Given the description of an element on the screen output the (x, y) to click on. 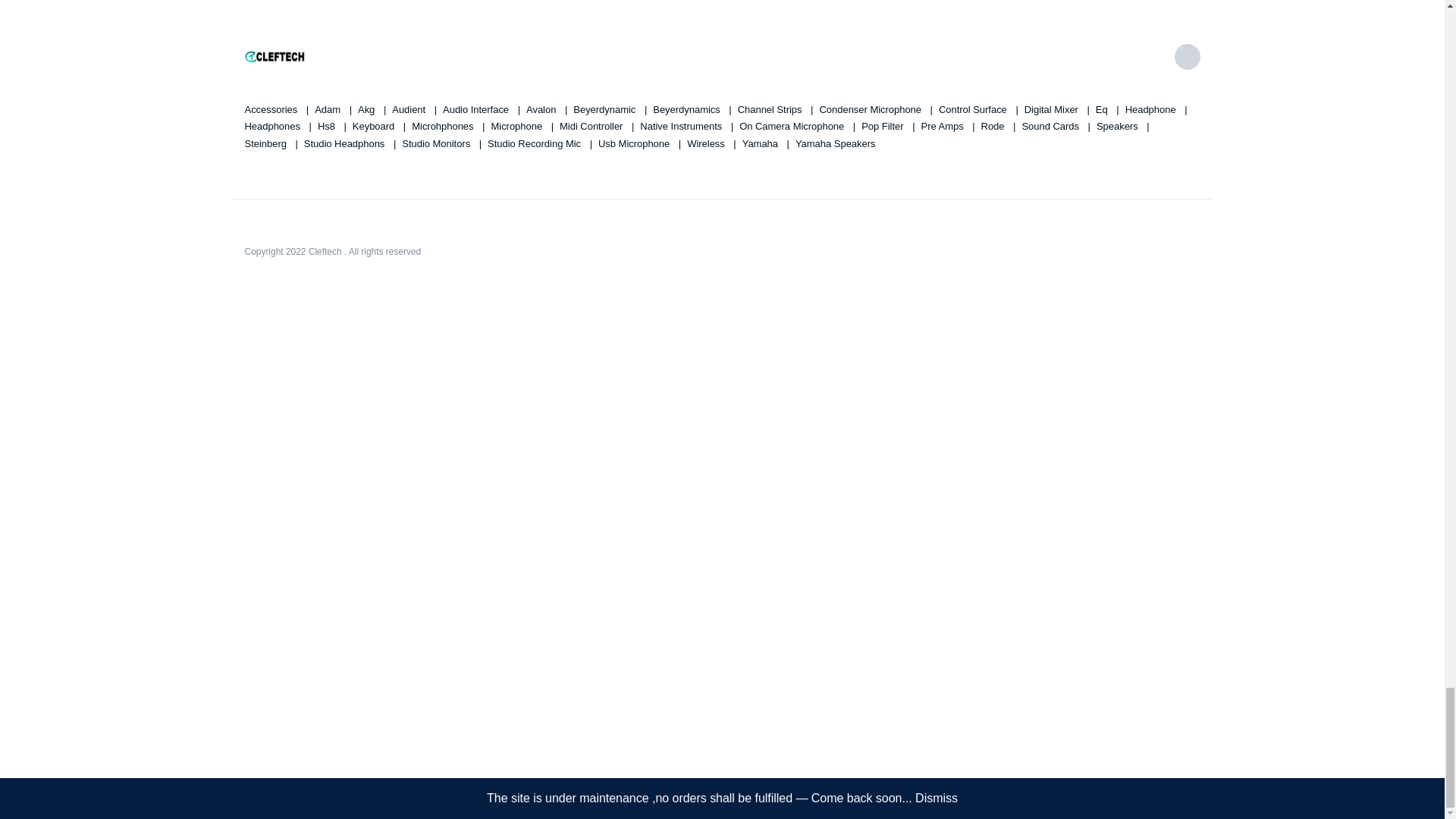
cleftech (274, 56)
